Given the description of an element on the screen output the (x, y) to click on. 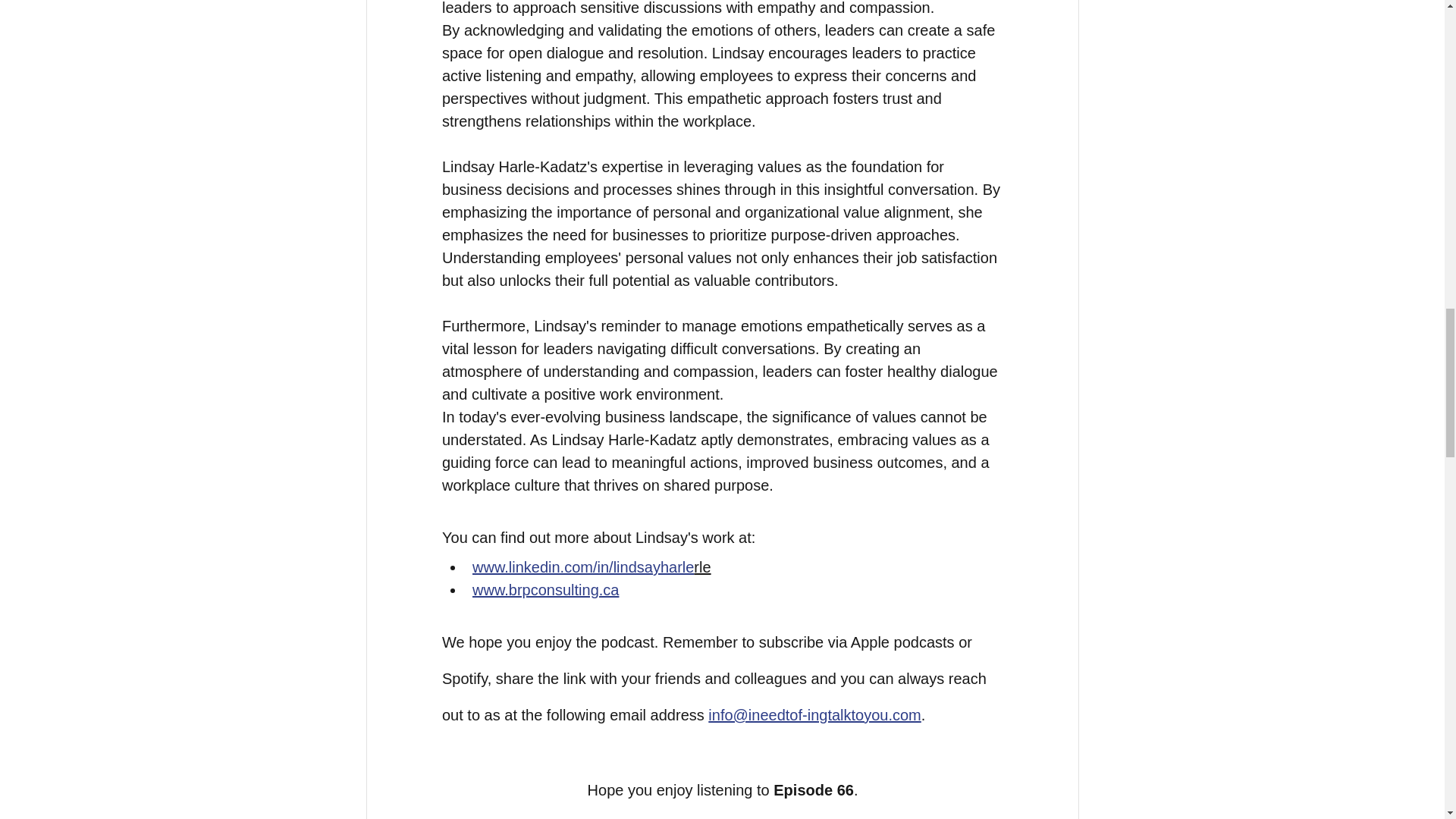
www.brpconsulting.ca (544, 589)
